Given the description of an element on the screen output the (x, y) to click on. 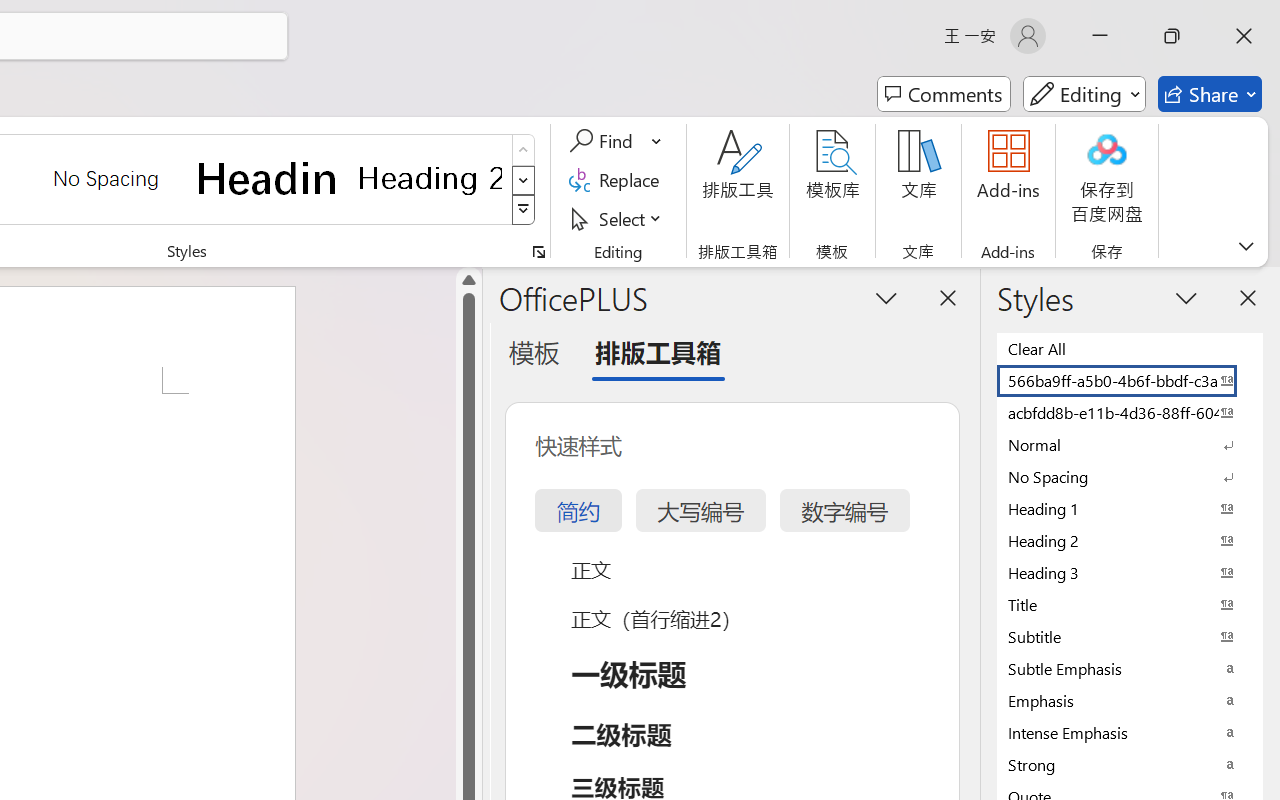
Select (618, 218)
Strong (1130, 764)
More Options (657, 141)
Styles (523, 209)
Share (1210, 94)
Clear All (1130, 348)
No Spacing (1130, 476)
Emphasis (1130, 700)
Line up (468, 279)
